Given the description of an element on the screen output the (x, y) to click on. 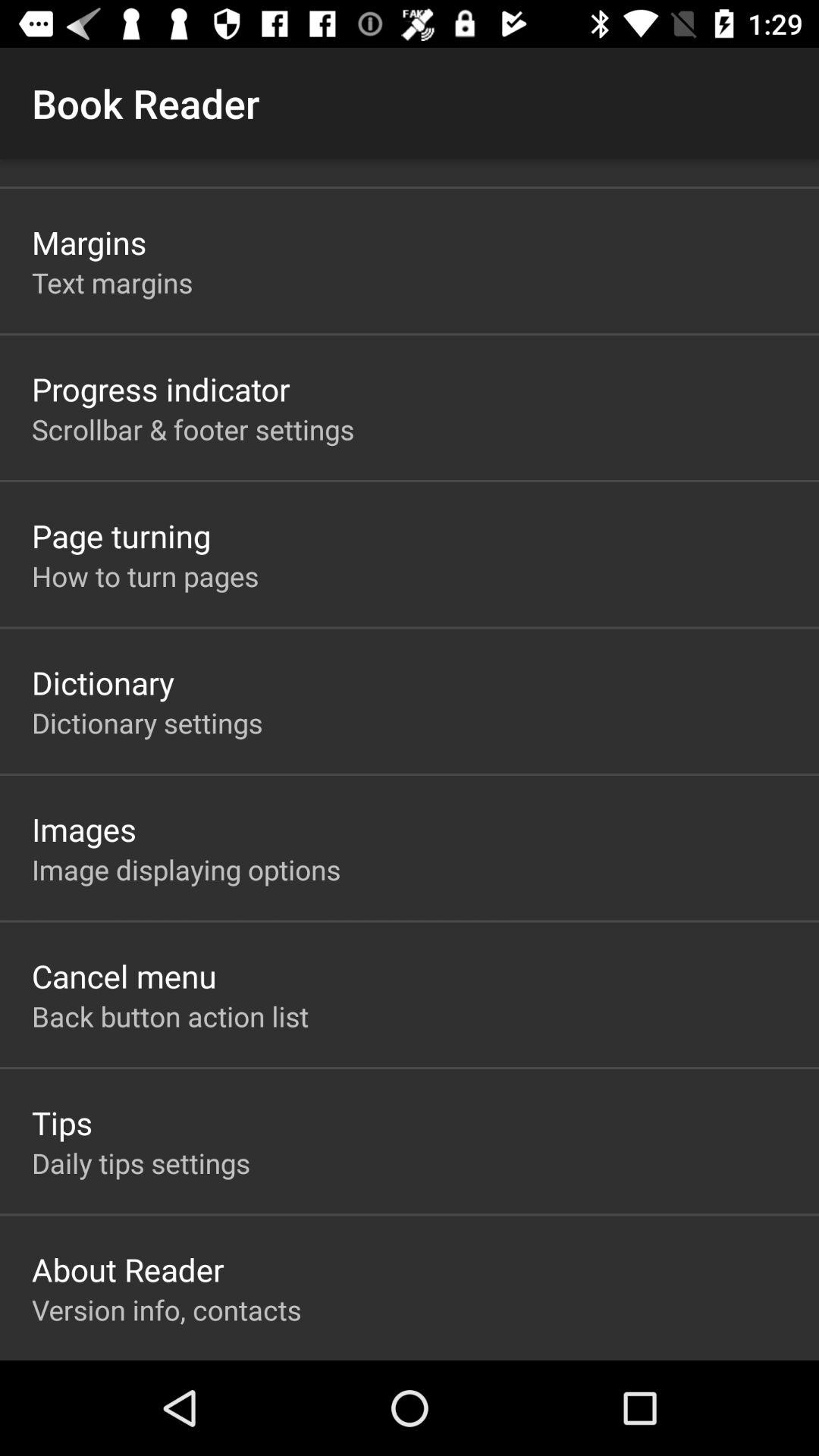
tap scrollbar & footer settings (192, 429)
